Given the description of an element on the screen output the (x, y) to click on. 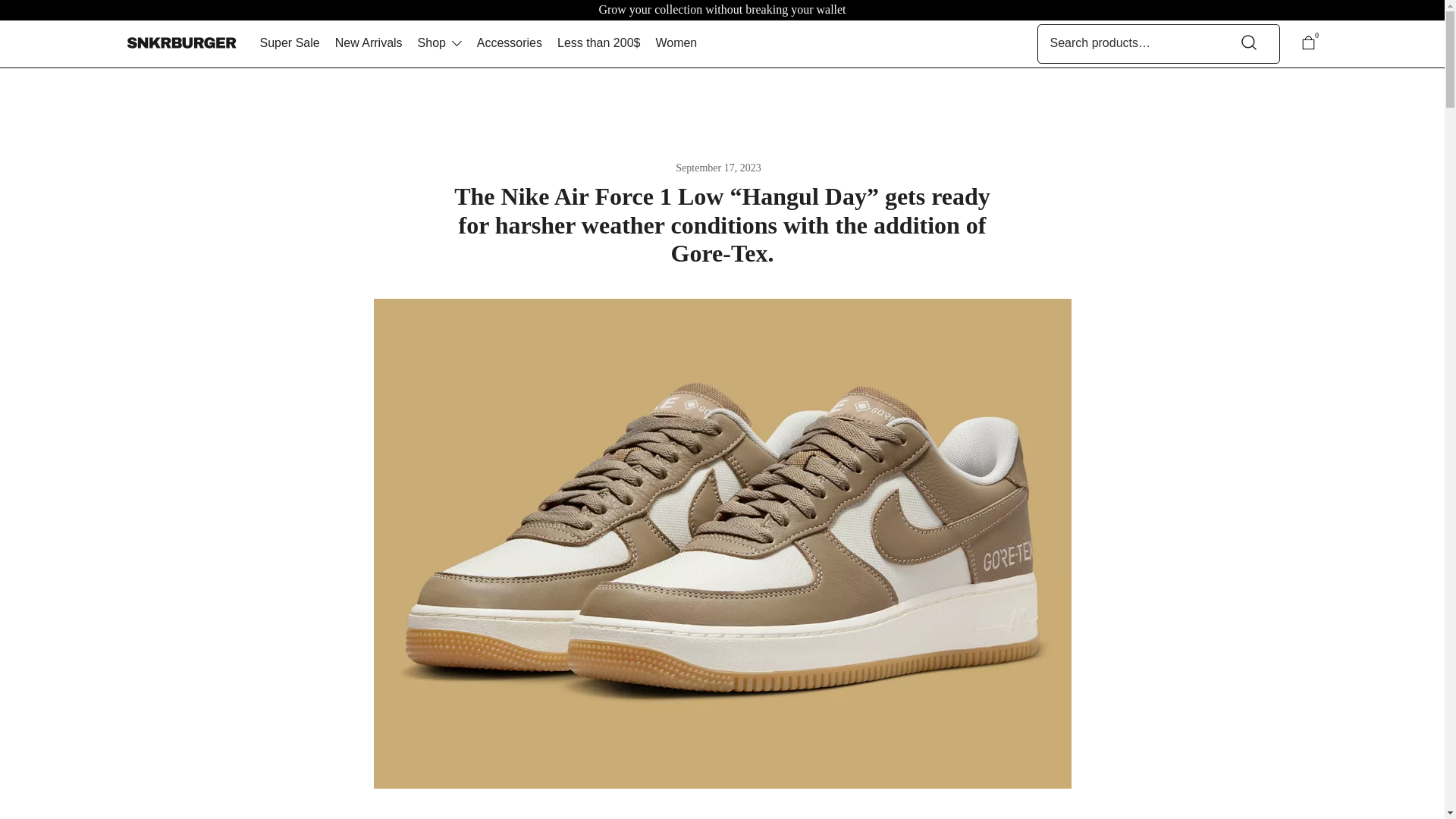
View your shopping cart (1307, 42)
SNKRBURGER (181, 69)
Super Sale (288, 43)
Search for the product (1248, 43)
New Arrivals (368, 43)
0 (1307, 43)
